Given the description of an element on the screen output the (x, y) to click on. 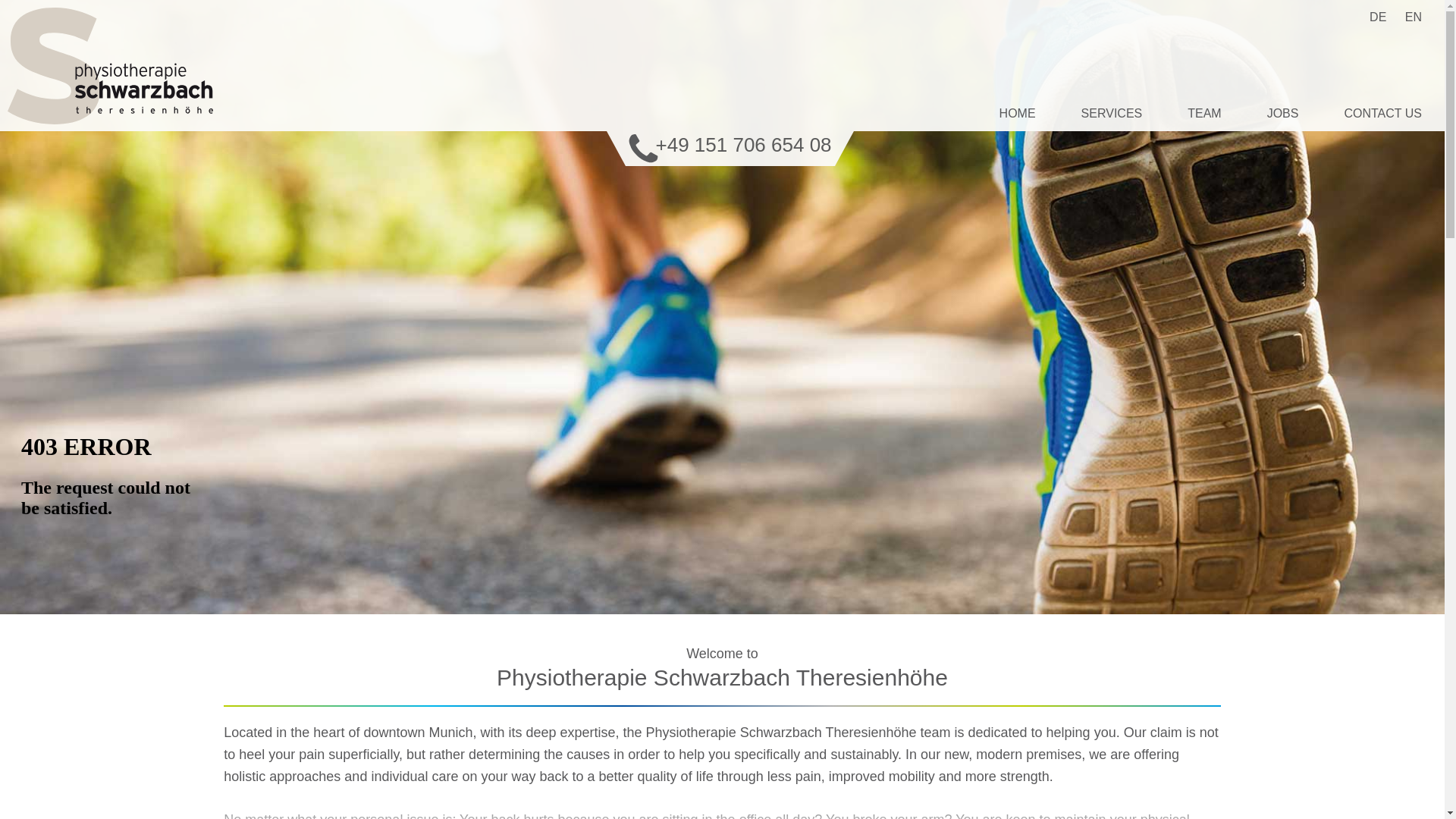
JOBS (1282, 113)
Home (1016, 113)
Services (1111, 113)
TEAM (1204, 113)
HOME (1016, 113)
CONTACT US (1382, 113)
SERVICES (1111, 113)
Jobs (1282, 113)
Contact us (1382, 113)
Team (1204, 113)
